Given the description of an element on the screen output the (x, y) to click on. 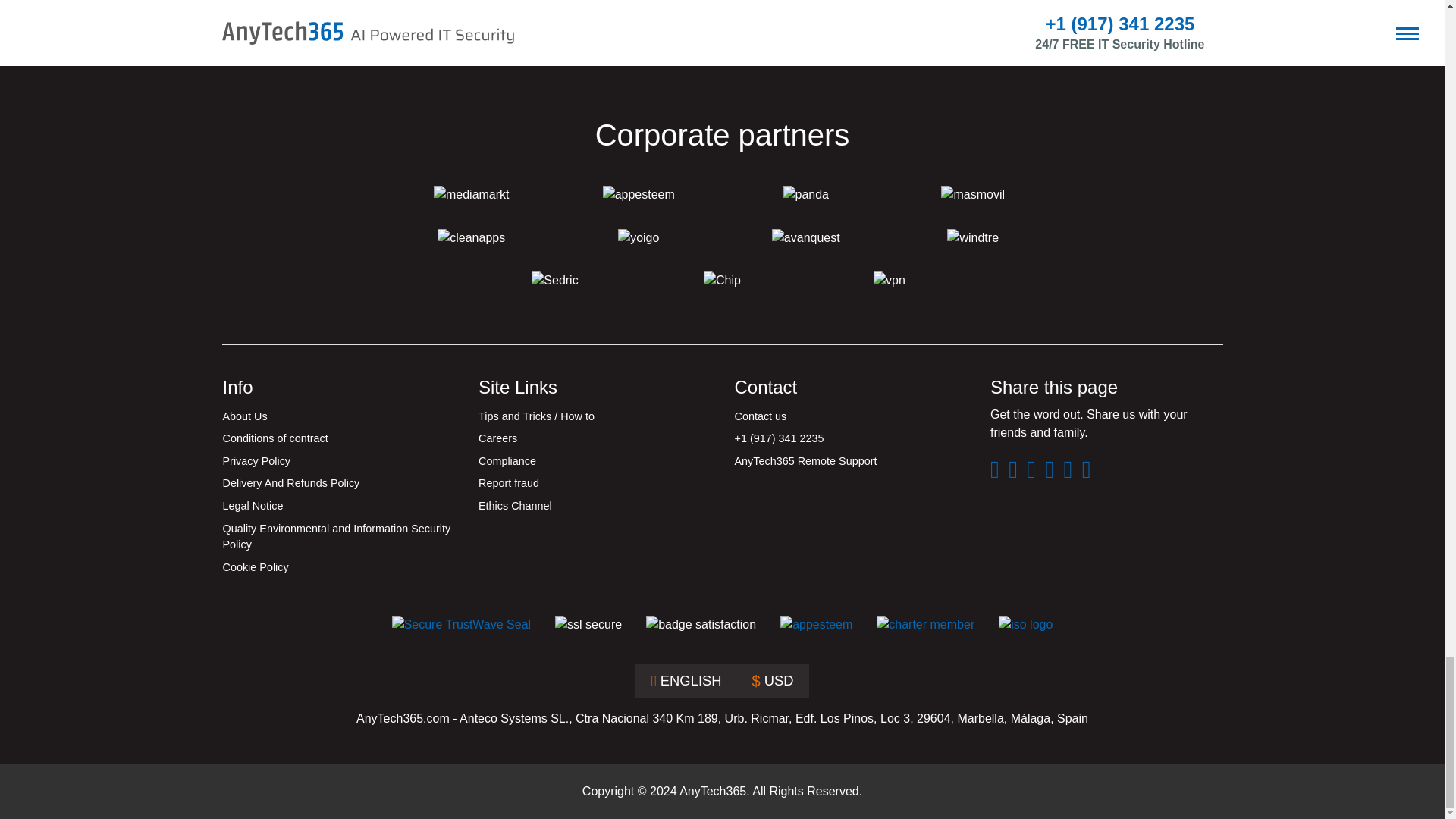
Read more (868, 12)
Legal Notice (338, 506)
Quality Environmental and Information Security Policy (338, 536)
Cookie Policy (338, 567)
Compliance (594, 461)
Delivery And Refunds Policy (338, 483)
About Us (338, 416)
Careers (594, 438)
Conditions of contract (338, 438)
Privacy Policy (338, 461)
